Given the description of an element on the screen output the (x, y) to click on. 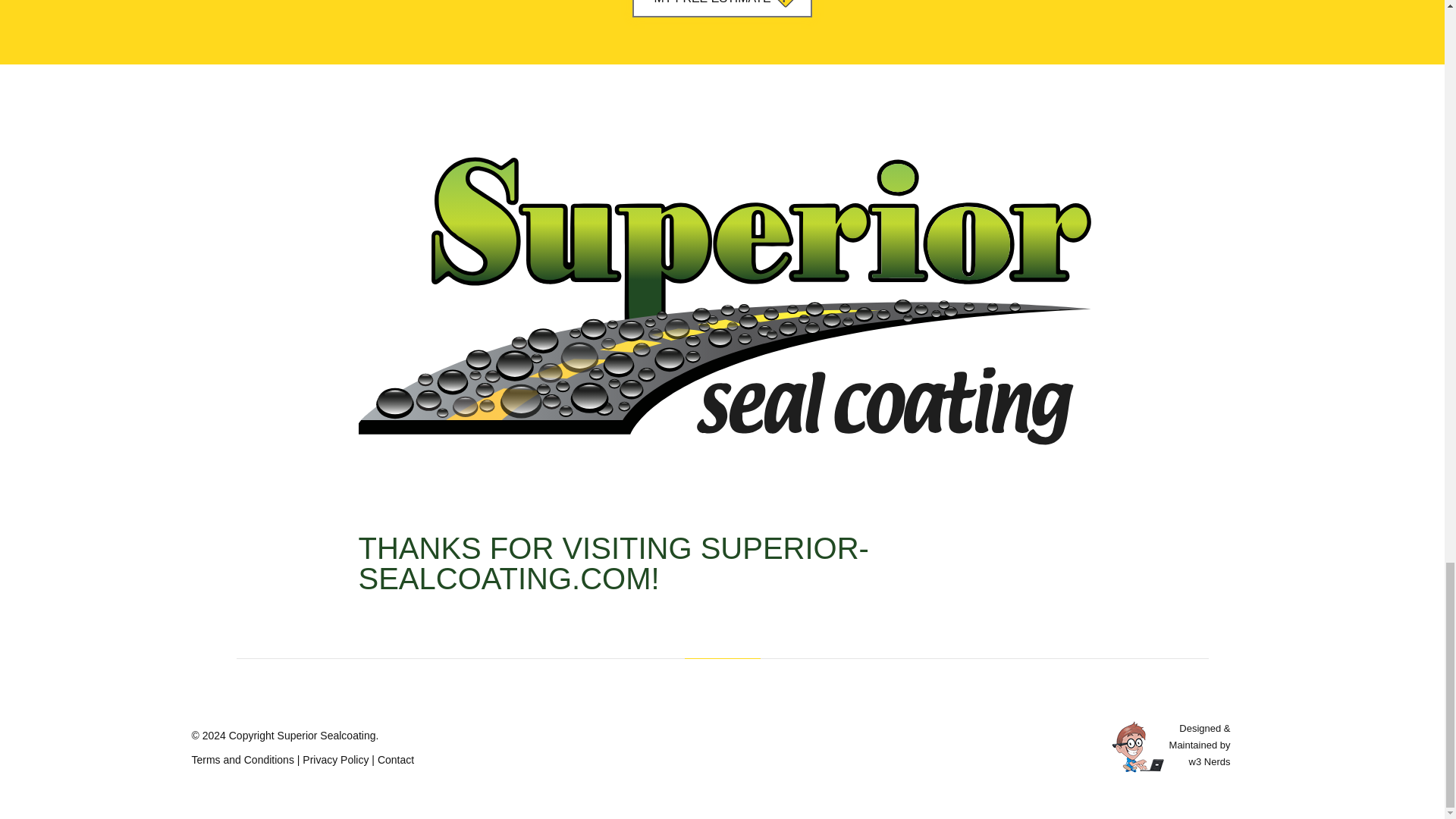
Terms and Conditions (242, 759)
MY FREE ESTIMATE (720, 8)
Privacy Policy (335, 759)
Contact (395, 759)
